Given the description of an element on the screen output the (x, y) to click on. 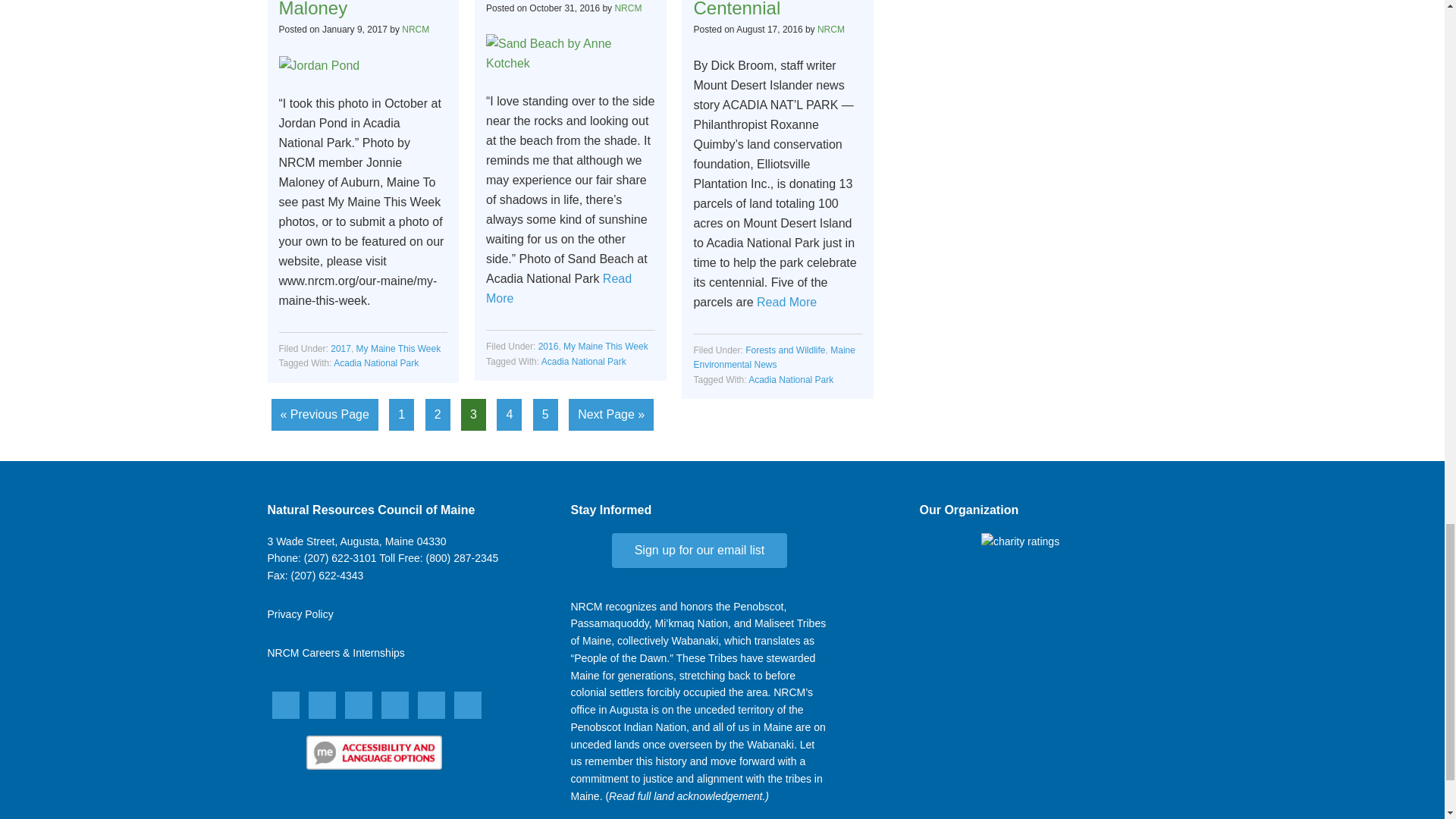
Read More (558, 287)
Contact Us (355, 541)
Read More (786, 301)
